Given the description of an element on the screen output the (x, y) to click on. 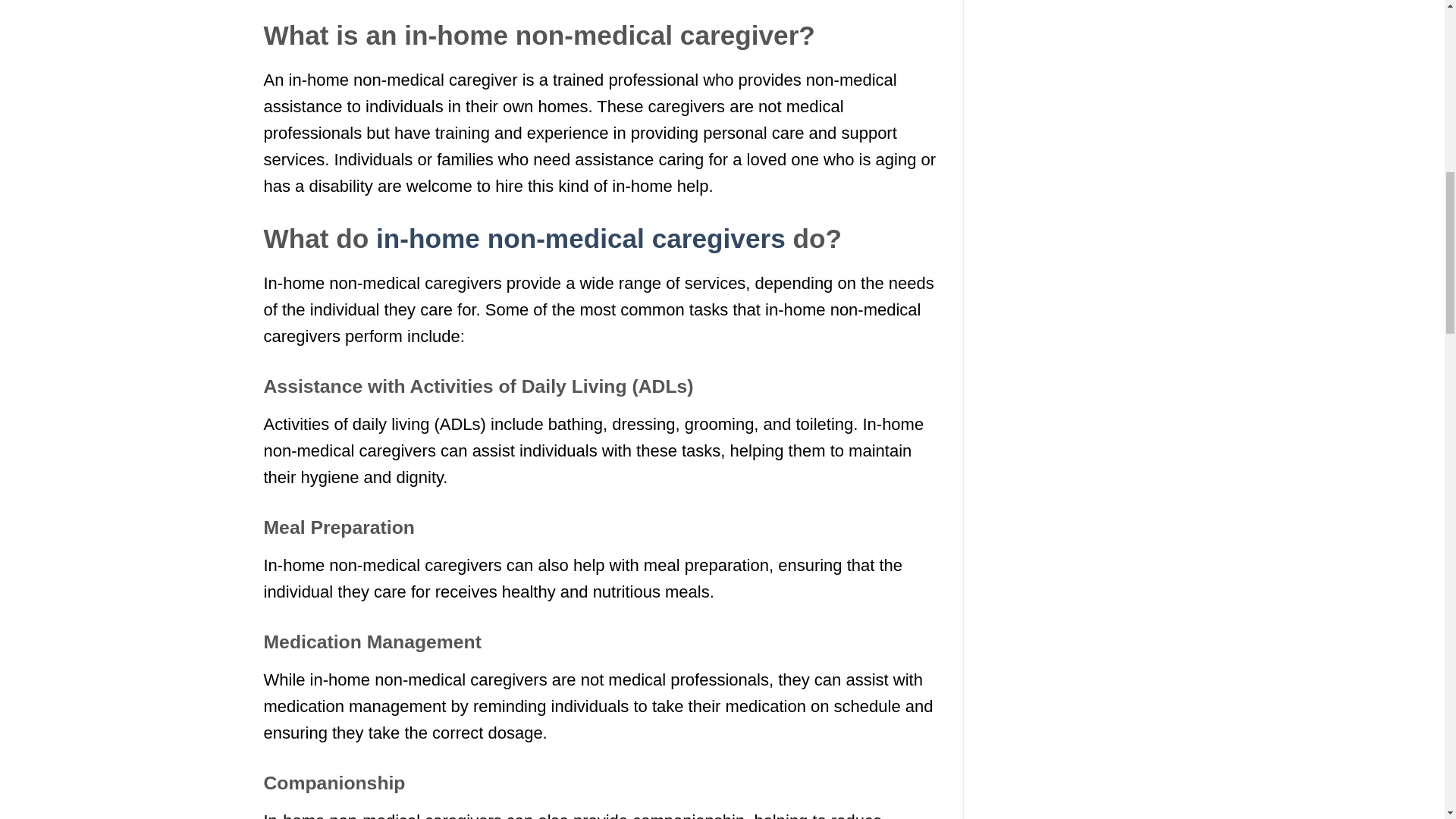
in-home non-medical caregivers (580, 238)
